Given the description of an element on the screen output the (x, y) to click on. 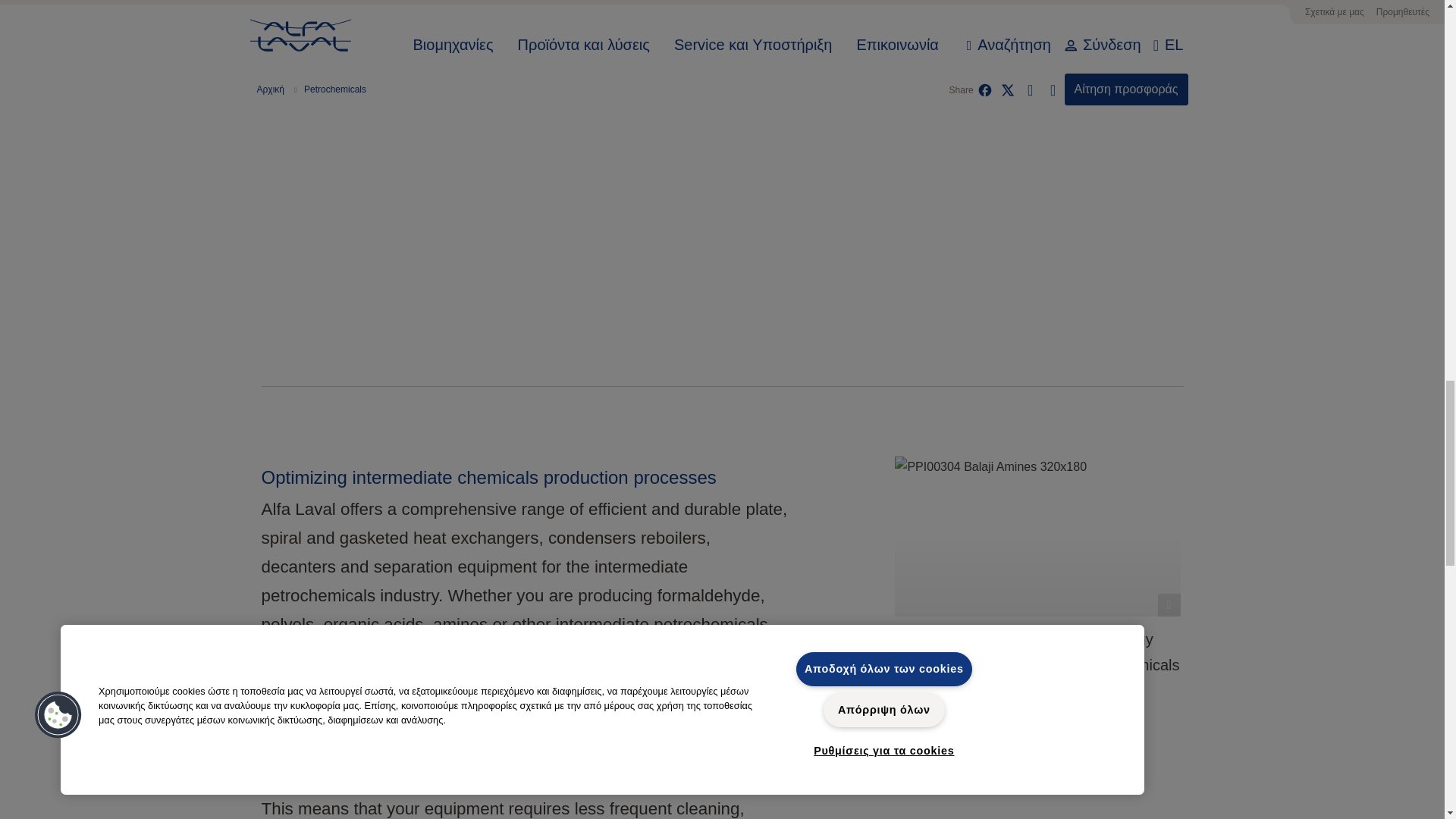
Learn more about our service offer (423, 74)
